Given the description of an element on the screen output the (x, y) to click on. 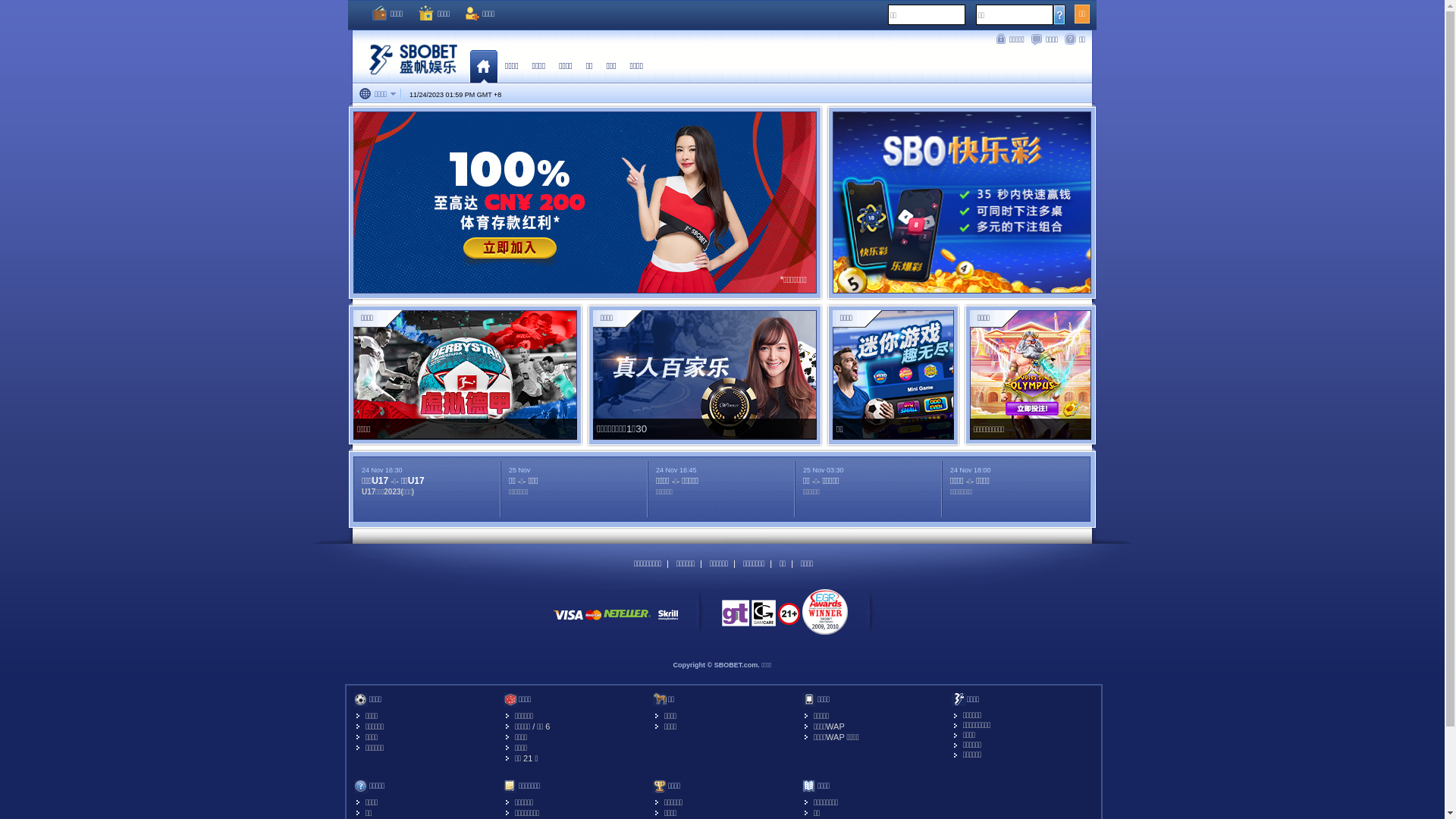
+ Element type: text (495, 94)
